Given the description of an element on the screen output the (x, y) to click on. 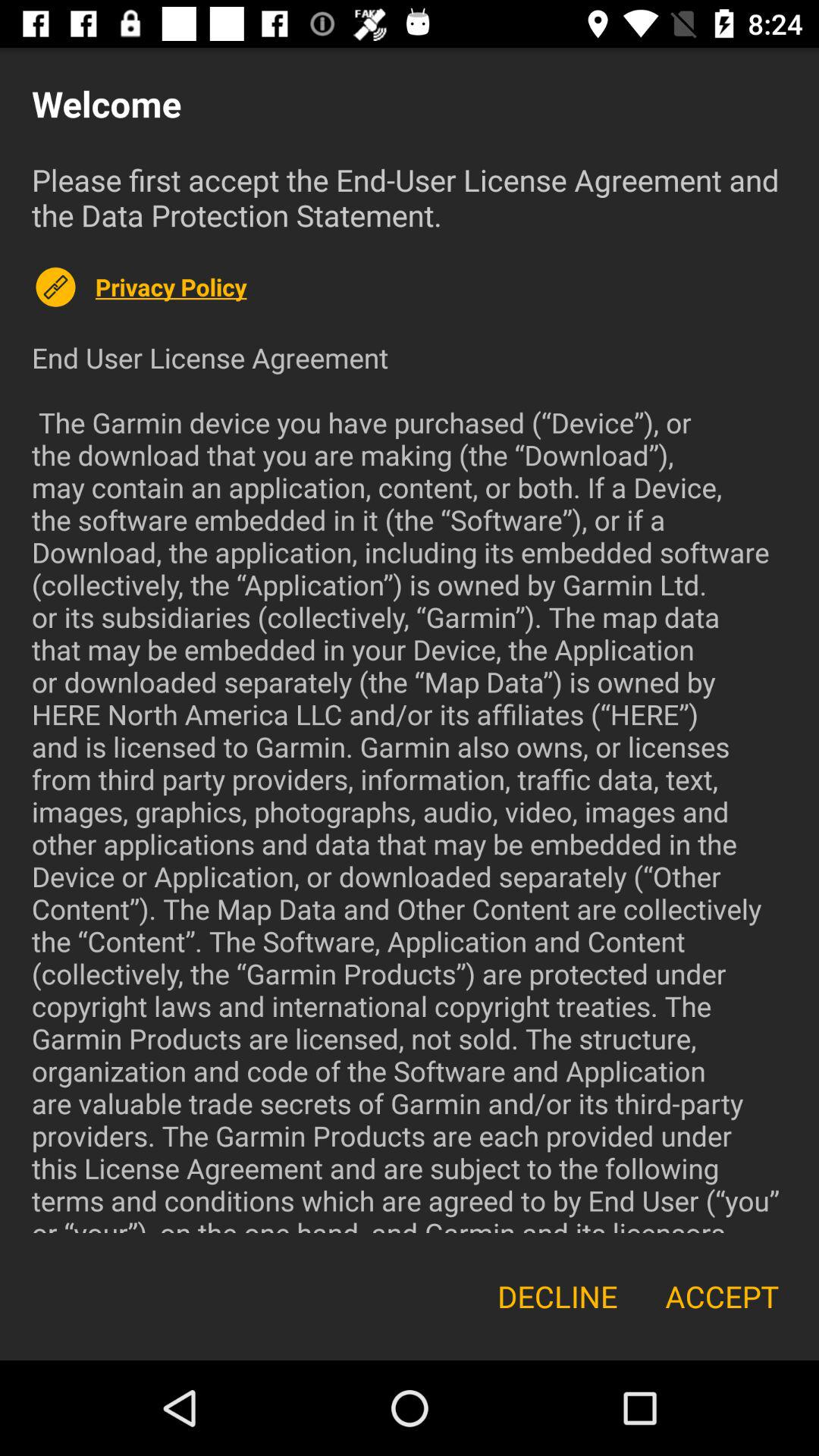
launch the icon above end user license icon (441, 286)
